Given the description of an element on the screen output the (x, y) to click on. 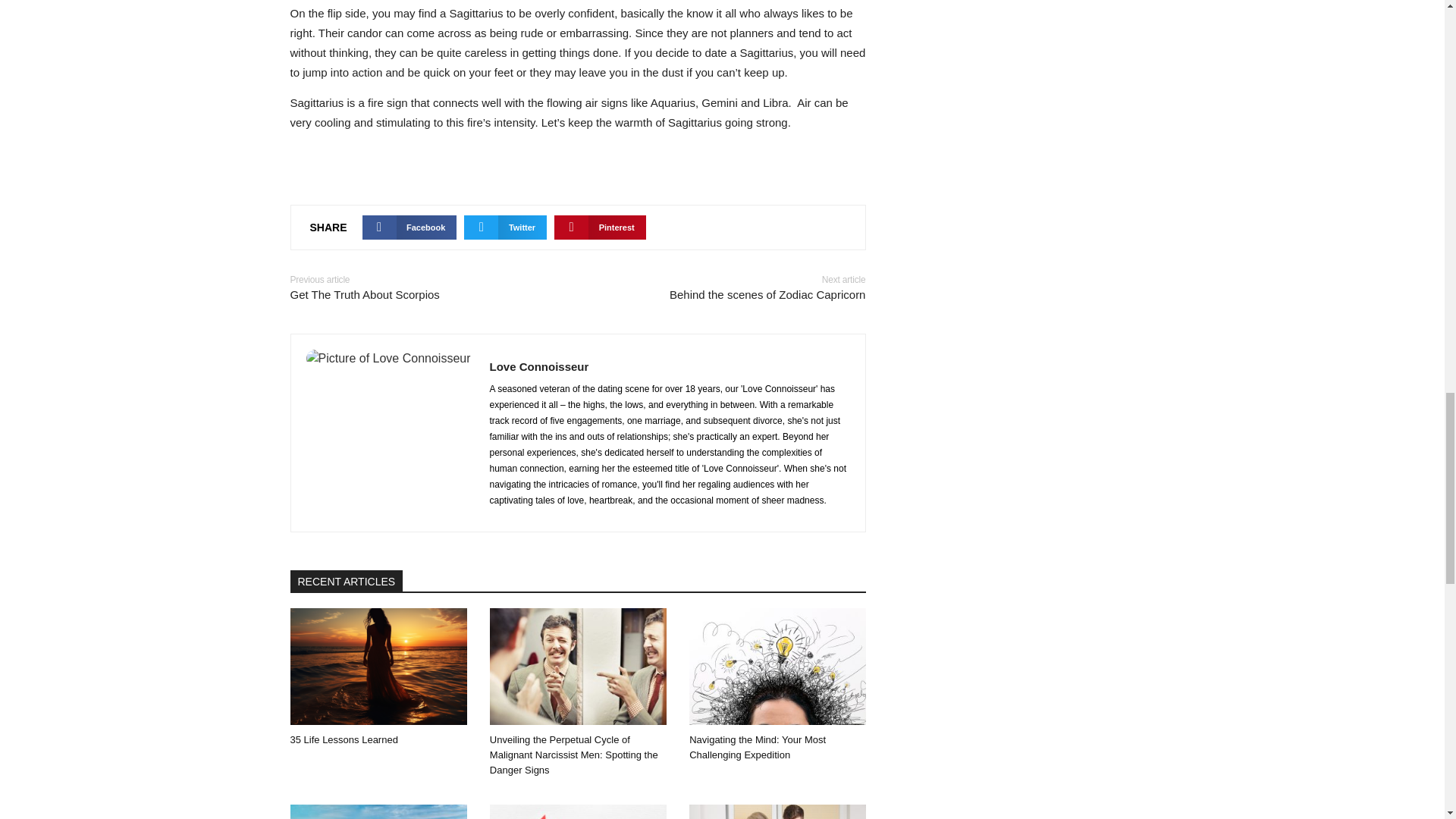
Navigating the Mind: Your Most Challenging Expedition (721, 287)
35 Life Lessons Learned (432, 287)
RECENT ARTICLES (756, 746)
